Given the description of an element on the screen output the (x, y) to click on. 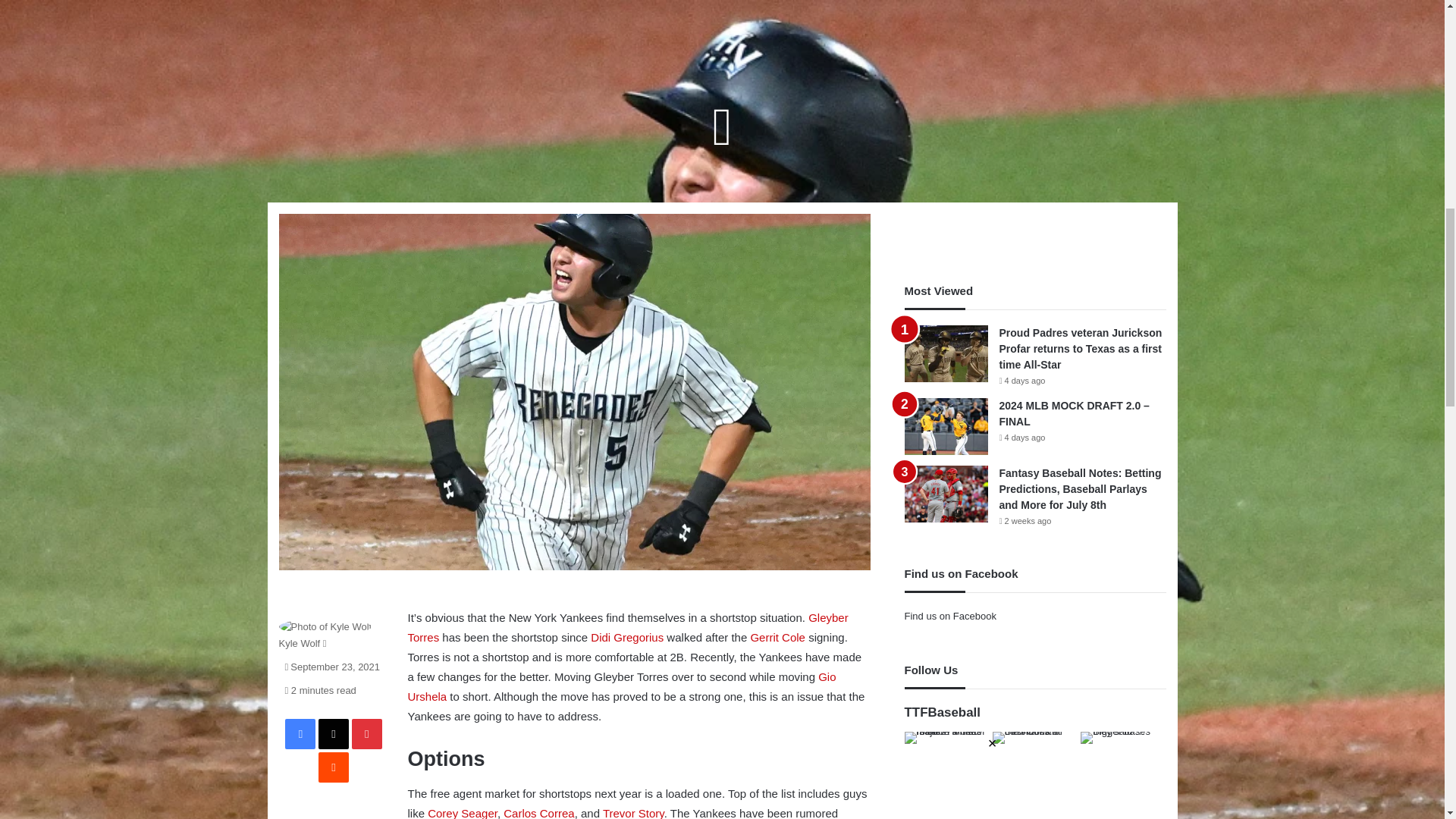
Follow on Twitter (324, 643)
Reddit (333, 767)
Facebook (300, 734)
Kyle Wolf (299, 643)
Pinterest (366, 734)
X (333, 734)
